Given the description of an element on the screen output the (x, y) to click on. 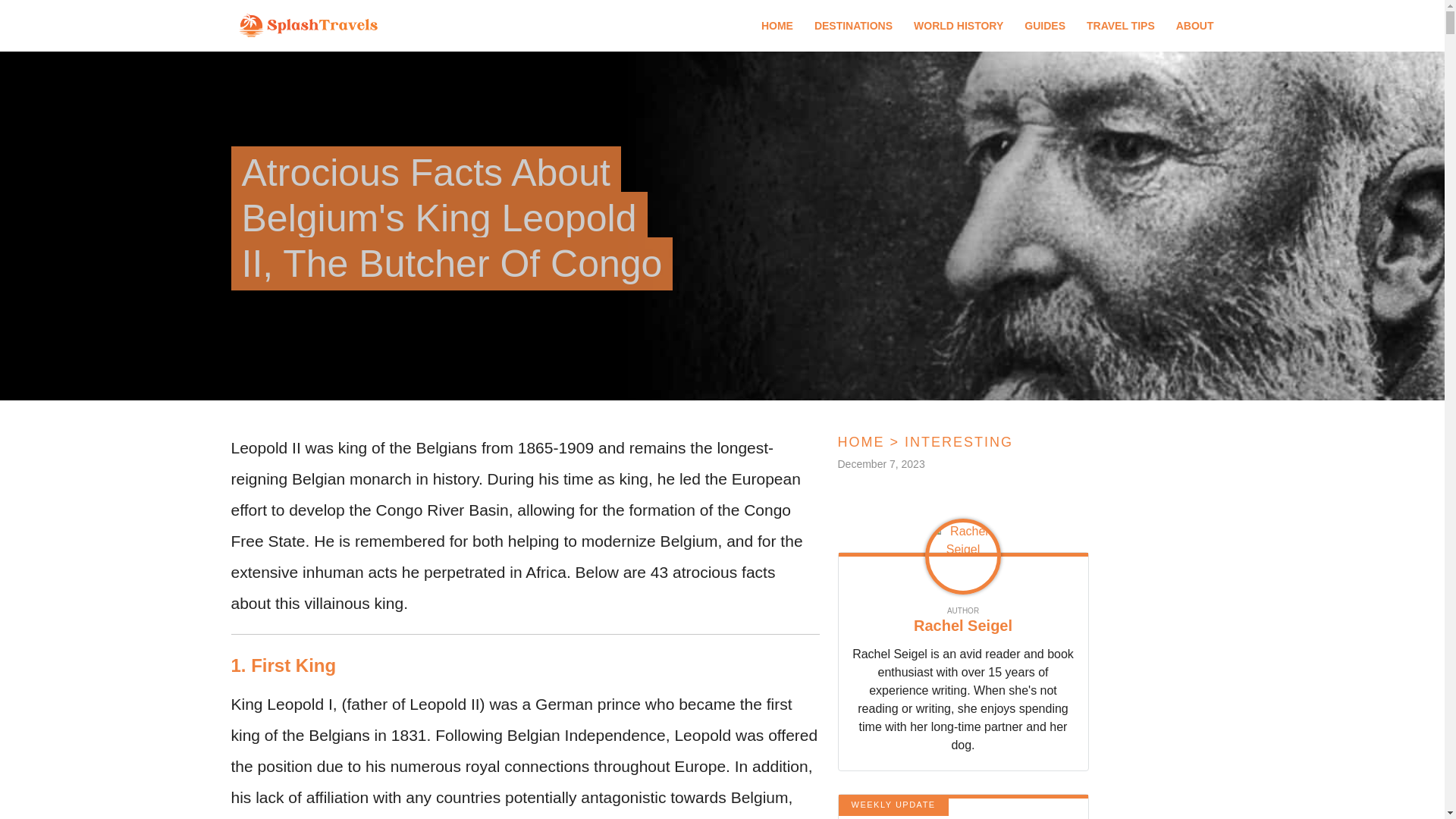
HOME (777, 26)
GUIDES (1045, 26)
ABOUT (1195, 26)
DESTINATIONS (852, 26)
TRAVEL TIPS (1120, 26)
WORLD HISTORY (958, 26)
